Given the description of an element on the screen output the (x, y) to click on. 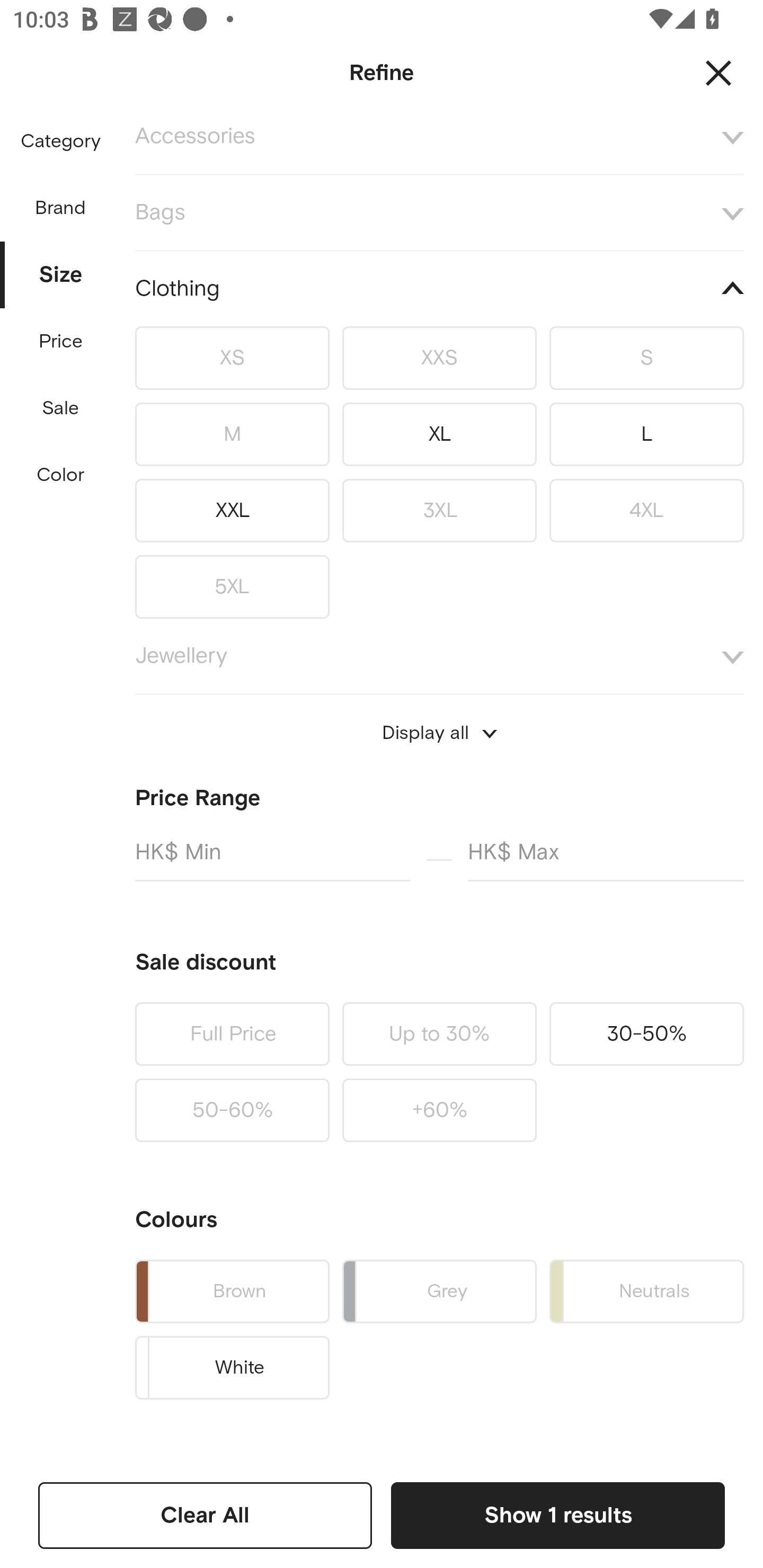
Category (60, 141)
Accessories (439, 148)
Brand (60, 203)
Bags (439, 212)
Size (60, 270)
Clothing (439, 288)
Price (60, 342)
XS (232, 357)
XXS (439, 357)
S (646, 357)
Sale (60, 408)
M (232, 433)
XL (439, 433)
L (646, 433)
Color (60, 475)
XXL (232, 509)
3XL (439, 509)
4XL (646, 509)
5XL (232, 582)
Jewellery (439, 655)
Display all (439, 732)
HK$ Min (272, 859)
HK$ Max (605, 859)
Full Price (232, 1033)
Up to 30% (439, 1033)
30-50% (646, 1033)
50-60% (232, 1109)
+60% (439, 1109)
Brown (232, 1290)
Grey (439, 1290)
Neutrals (646, 1290)
White (232, 1367)
Clear All (205, 1515)
Show 1 results (557, 1515)
